Given the description of an element on the screen output the (x, y) to click on. 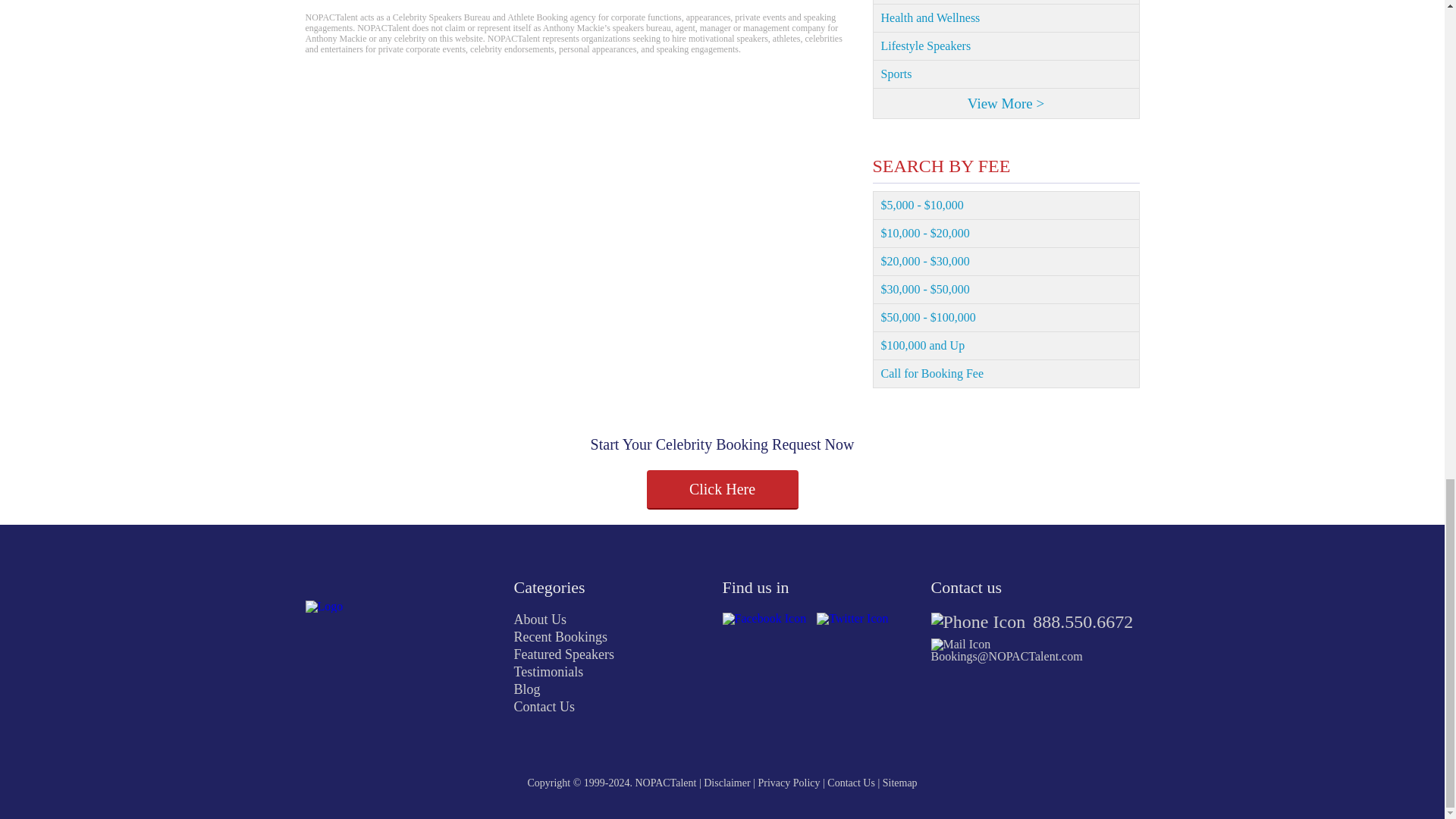
Health and Wellness (1005, 18)
Sports (1005, 74)
Lifestyle Speakers (1005, 46)
Entertainment (1005, 2)
